Given the description of an element on the screen output the (x, y) to click on. 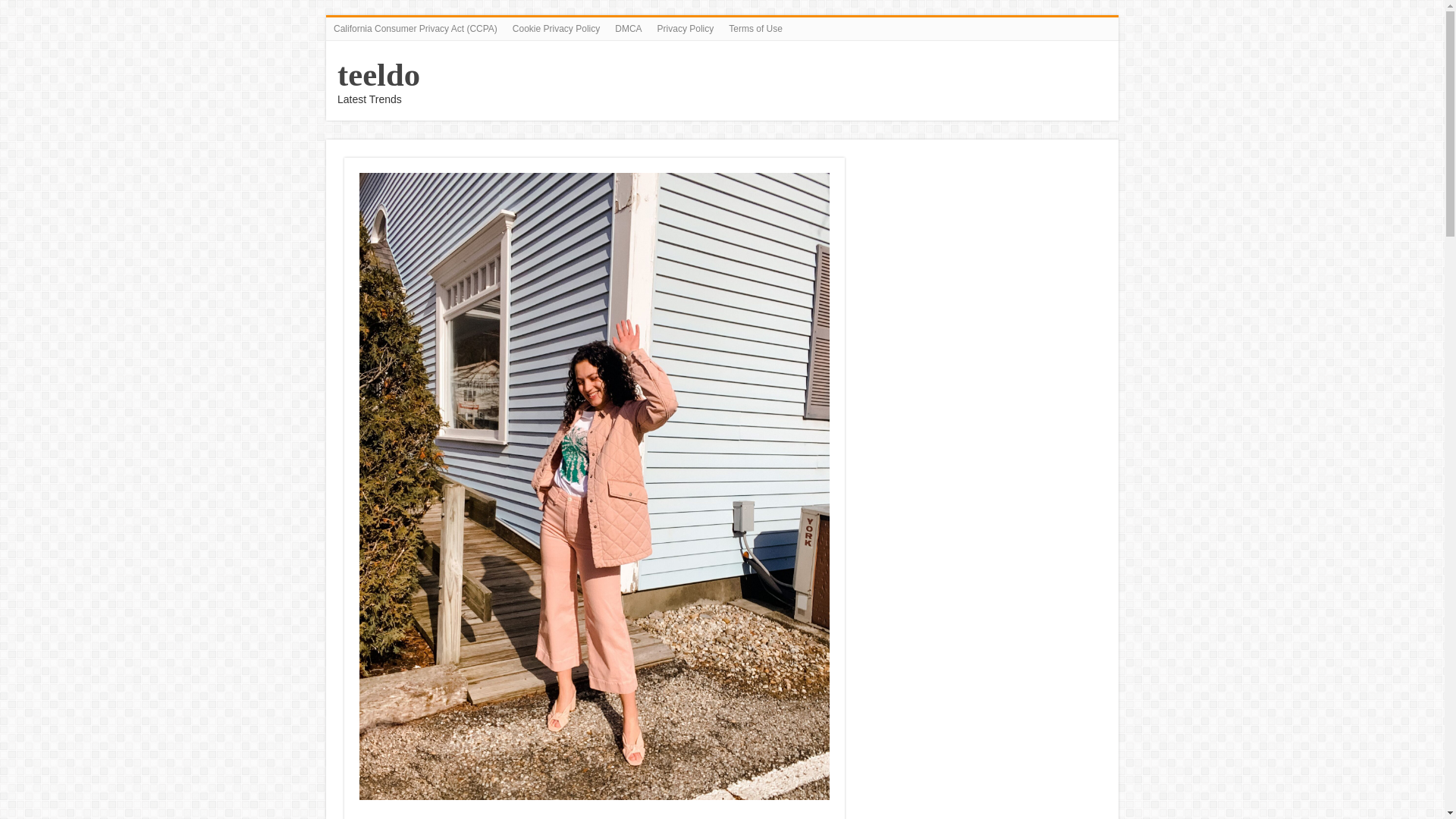
Privacy Policy (685, 28)
DMCA (628, 28)
Terms of Use (755, 28)
Cookie Privacy Policy (556, 28)
Advertisement (594, 815)
teeldo (378, 74)
